Given the description of an element on the screen output the (x, y) to click on. 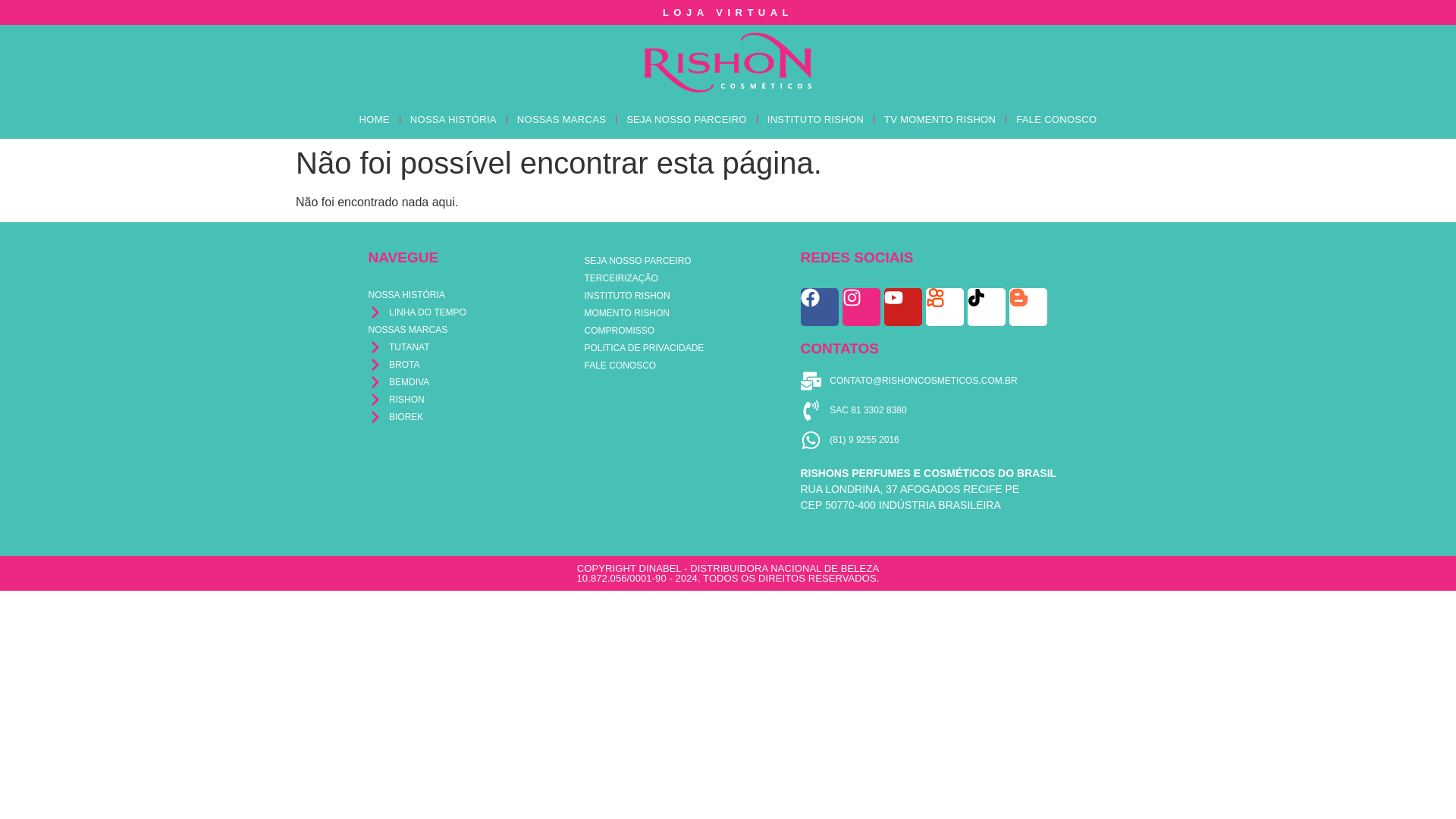
SEJA NOSSO PARCEIRO (686, 119)
FALE CONOSCO (1056, 119)
NOSSAS MARCAS (560, 119)
TV MOMENTO RISHON (940, 119)
LOJA VIRTUAL (727, 12)
INSTITUTO RISHON (815, 119)
HOME (373, 119)
